Given the description of an element on the screen output the (x, y) to click on. 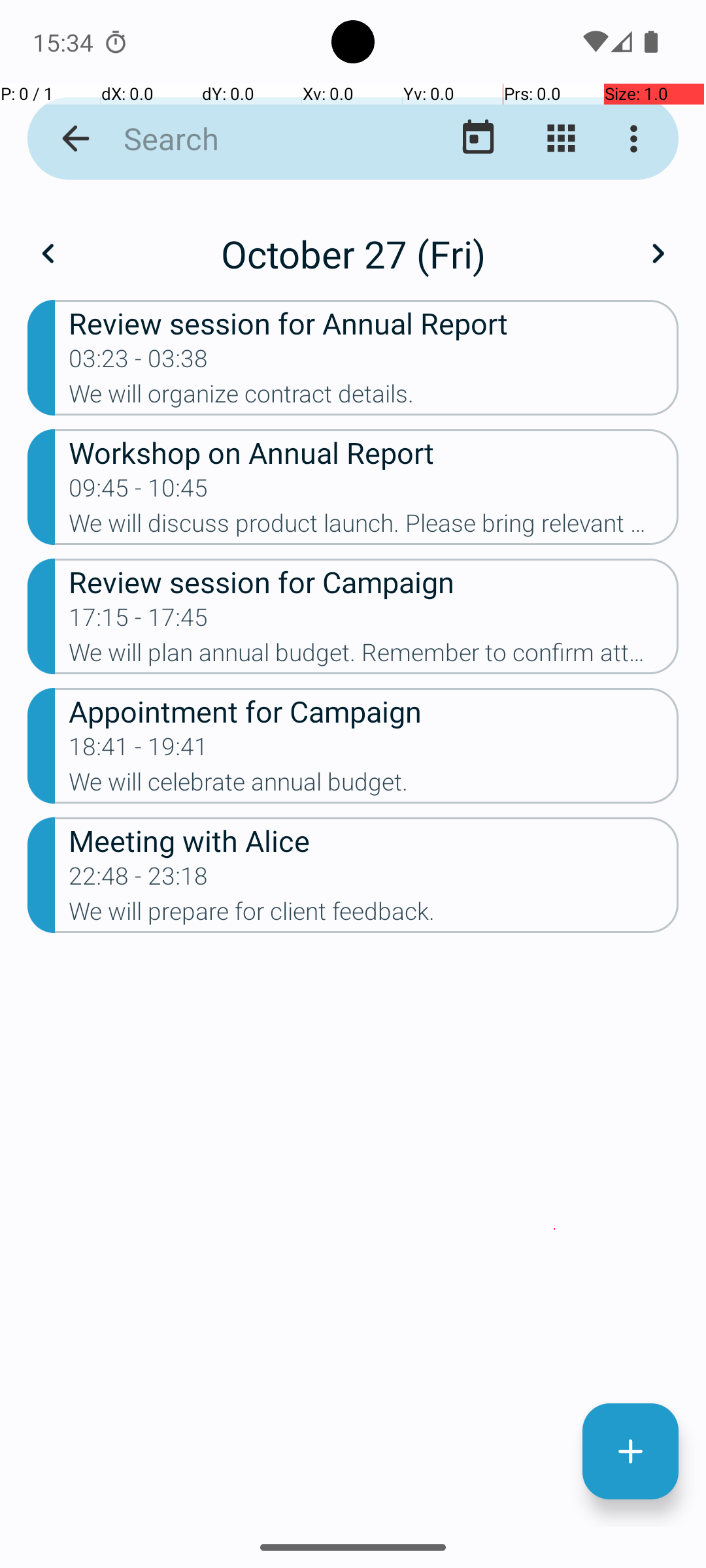
October 27 (Fri) Element type: android.widget.TextView (352, 253)
03:23 - 03:38 Element type: android.widget.TextView (137, 362)
We will organize contract details. Element type: android.widget.TextView (373, 397)
09:45 - 10:45 Element type: android.widget.TextView (137, 491)
We will discuss product launch. Please bring relevant documents. Element type: android.widget.TextView (373, 526)
17:15 - 17:45 Element type: android.widget.TextView (137, 620)
We will plan annual budget. Remember to confirm attendance. Element type: android.widget.TextView (373, 656)
18:41 - 19:41 Element type: android.widget.TextView (137, 750)
We will celebrate annual budget. Element type: android.widget.TextView (373, 785)
22:48 - 23:18 Element type: android.widget.TextView (137, 879)
We will prepare for client feedback. Element type: android.widget.TextView (373, 914)
